Given the description of an element on the screen output the (x, y) to click on. 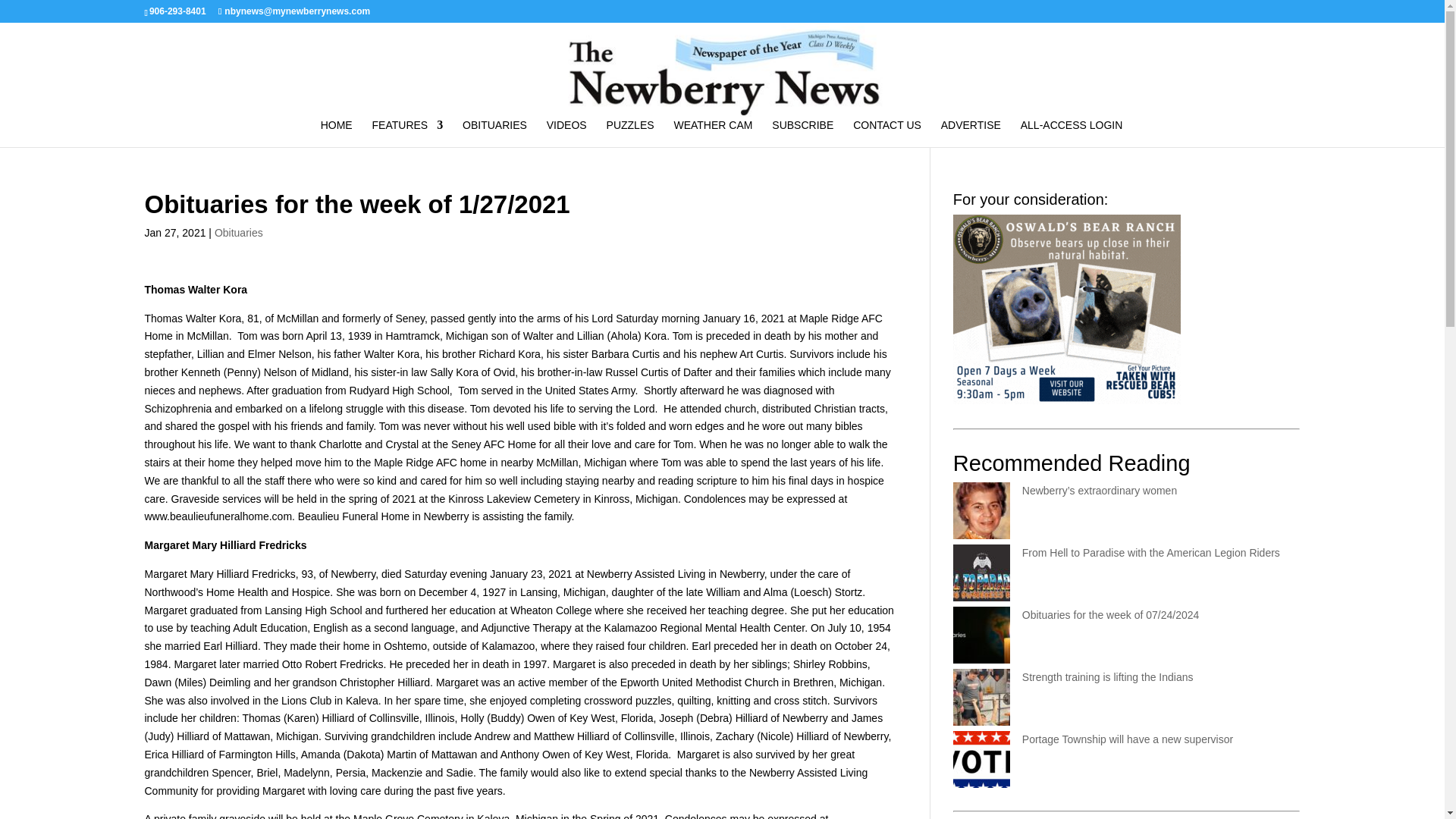
HOME (336, 133)
OBITUARIES (495, 133)
WEATHER CAM (712, 133)
CONTACT US (887, 133)
ALL-ACCESS LOGIN (1071, 133)
SUBSCRIBE (801, 133)
PUZZLES (630, 133)
VIDEOS (566, 133)
FEATURES (408, 133)
ADVERTISE (970, 133)
